Given the description of an element on the screen output the (x, y) to click on. 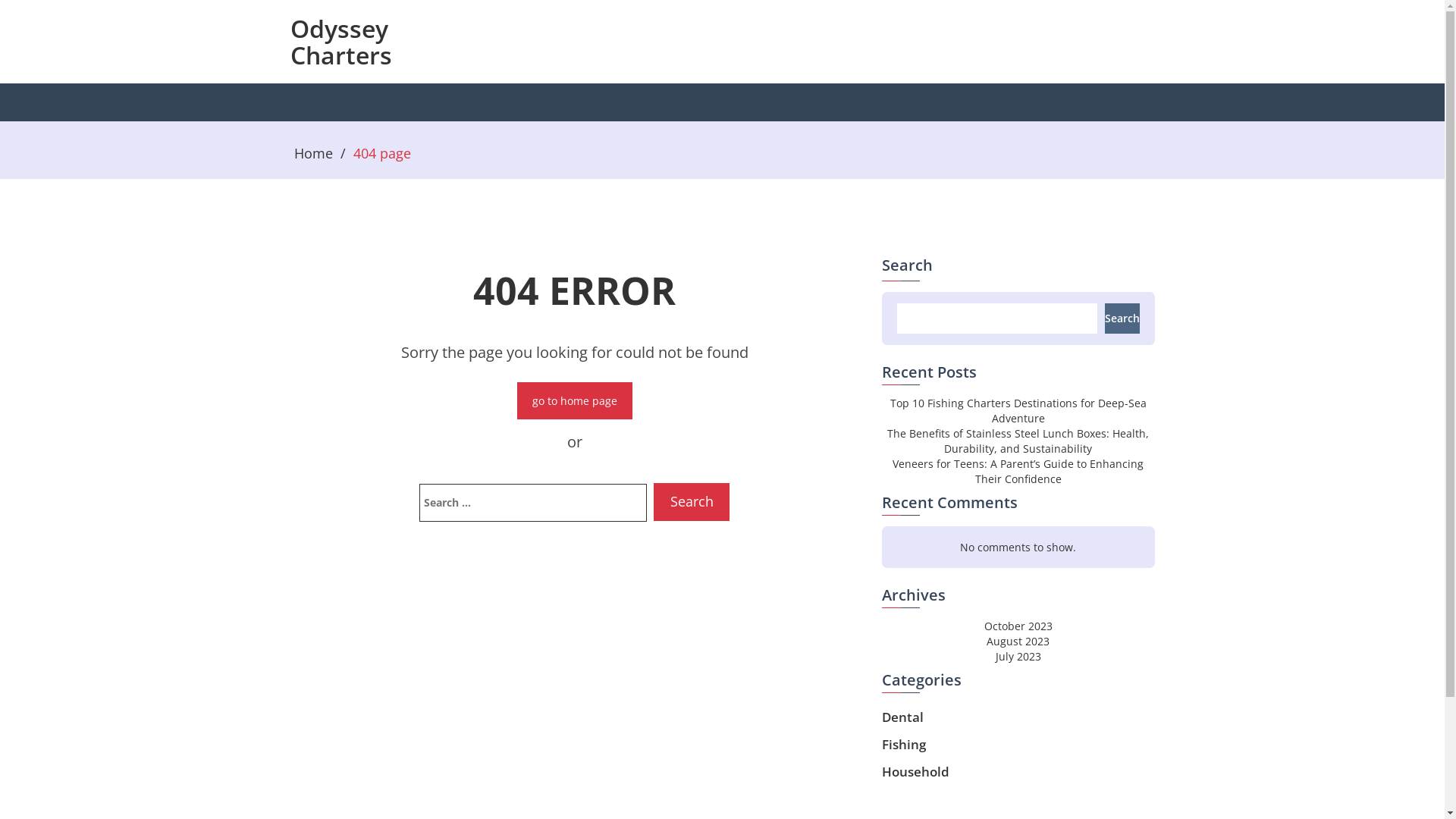
go to home page Element type: text (574, 400)
Search Element type: text (691, 501)
Top 10 Fishing Charters Destinations for Deep-Sea Adventure Element type: text (1018, 410)
August 2023 Element type: text (1017, 640)
Dental Element type: text (901, 716)
July 2023 Element type: text (1017, 656)
Household Element type: text (914, 771)
Search Element type: text (1121, 318)
Home Element type: text (313, 153)
October 2023 Element type: text (1018, 625)
Odyssey Charters Element type: text (340, 41)
Fishing Element type: text (903, 744)
